Given the description of an element on the screen output the (x, y) to click on. 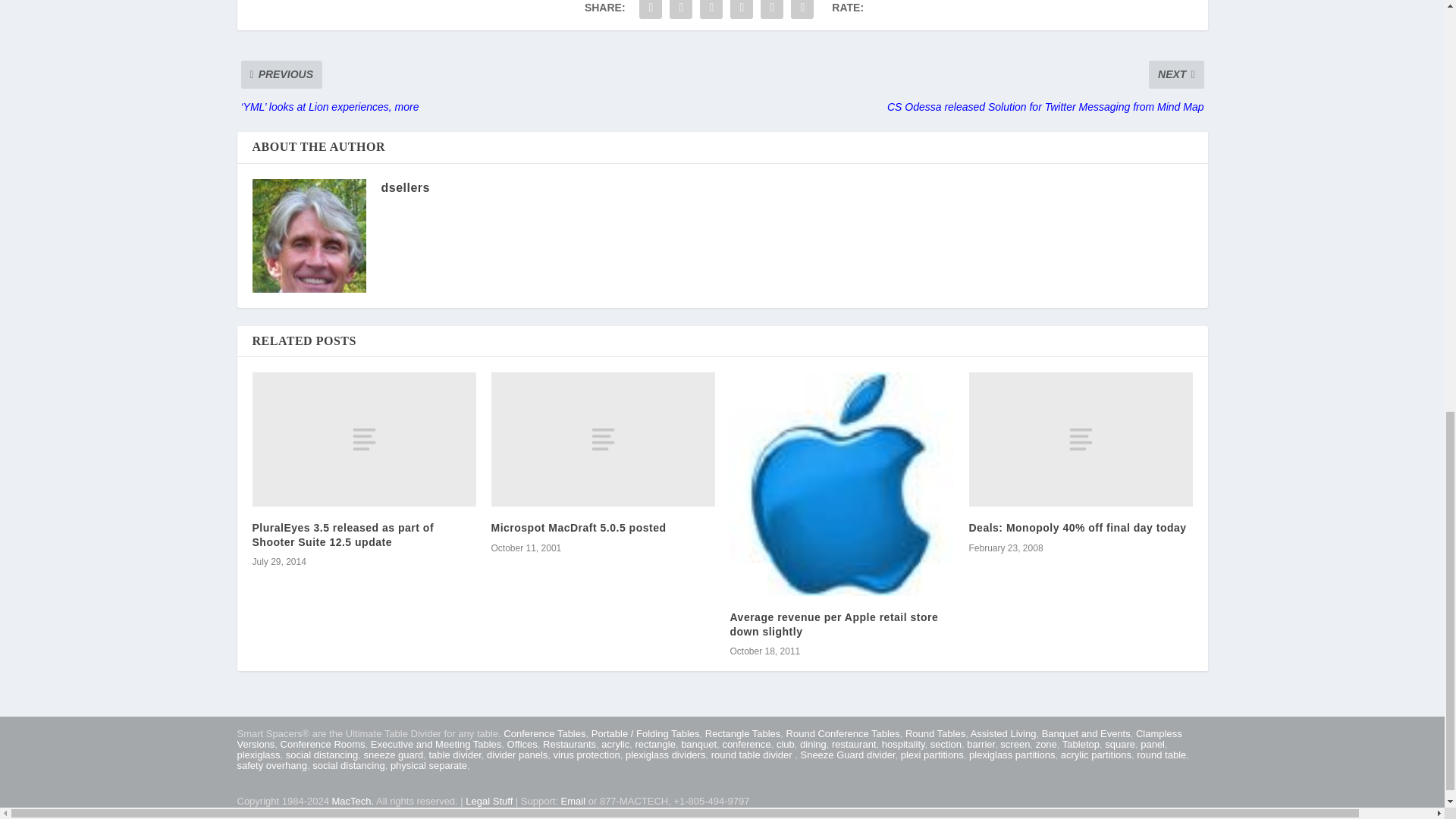
Microspot MacDraft 5.0.5 posted (603, 439)
PluralEyes 3.5 released as part of Shooter Suite 12.5 update (363, 439)
Average revenue per Apple retail store down slightly (841, 484)
View all posts by dsellers (404, 187)
